Given the description of an element on the screen output the (x, y) to click on. 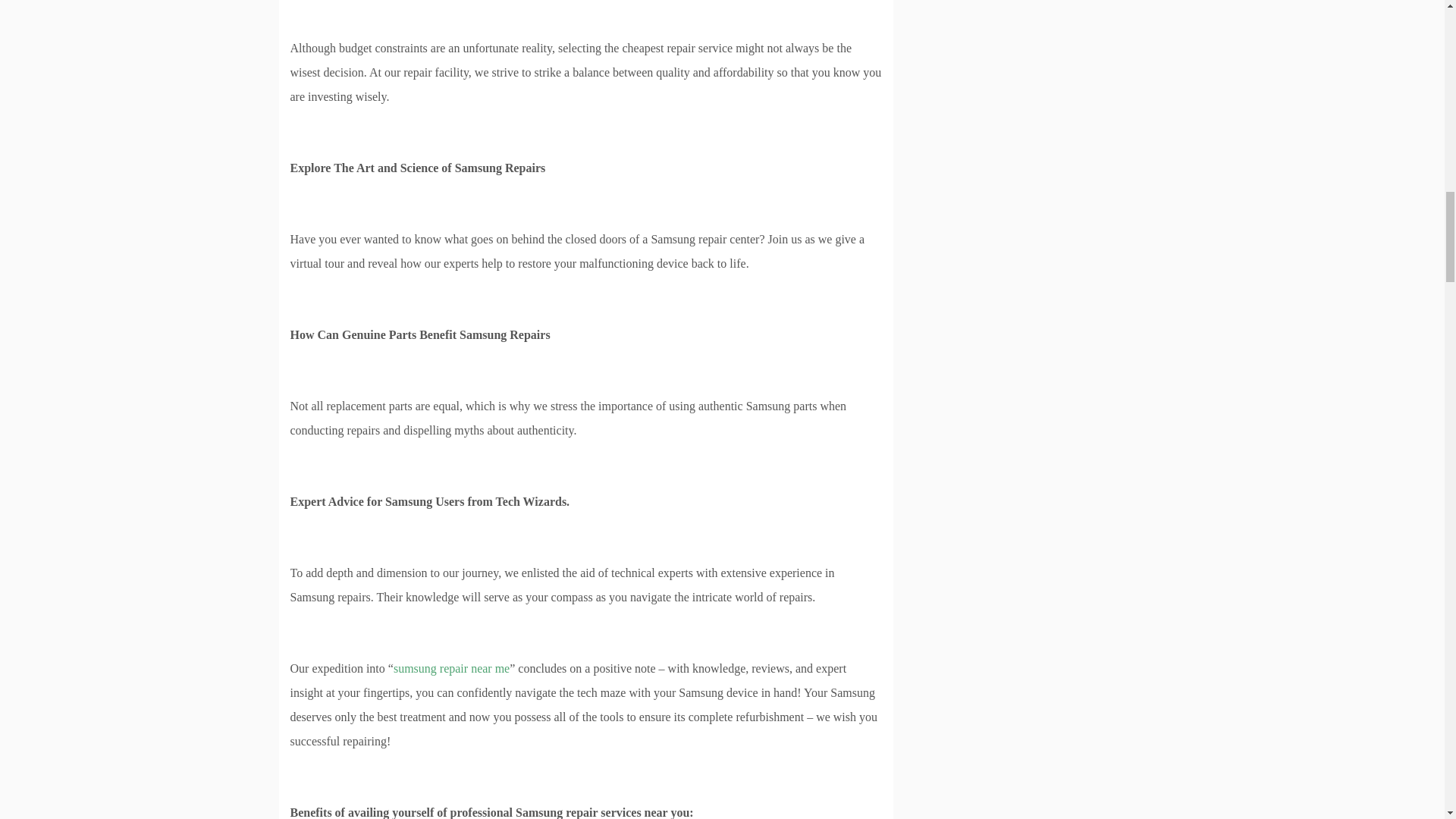
sumsung repair near me (451, 667)
